Given the description of an element on the screen output the (x, y) to click on. 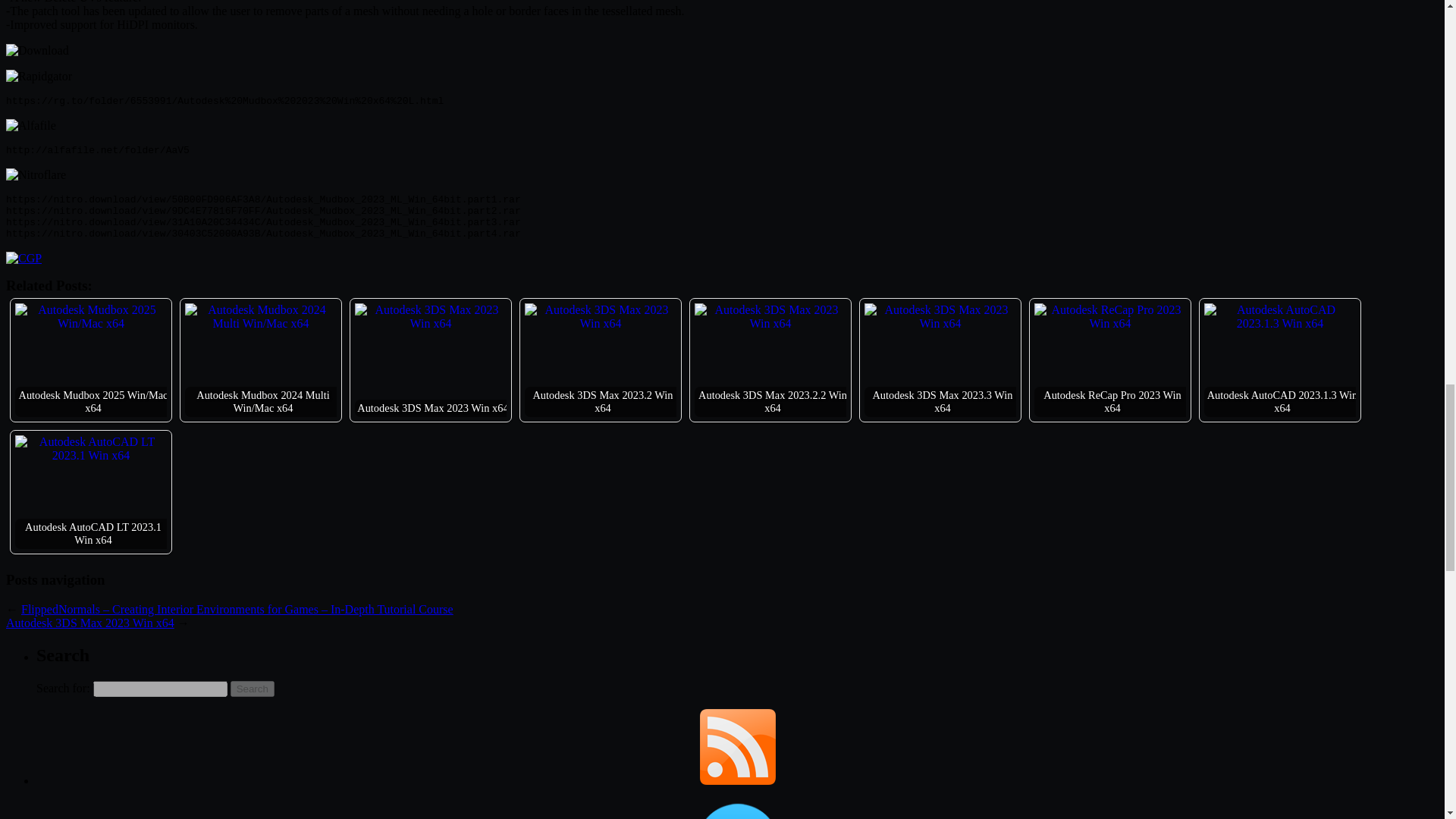
RSS Feed (736, 746)
Autodesk AutoCAD 2023.1.3 Win x64 (1279, 316)
Autodesk 3DS Max 2023 Win x64 (430, 316)
Autodesk 3DS Max 2023 Win x64 (940, 316)
Autodesk 3DS Max 2023 Win x64 (600, 316)
Search (252, 688)
Autodesk 3DS Max 2023 Win x64 (769, 316)
CGPersia (23, 257)
Autodesk ReCap Pro 2023 Win x64 (1109, 316)
Autodesk AutoCAD LT 2023.1 Win x64 (90, 448)
